Given the description of an element on the screen output the (x, y) to click on. 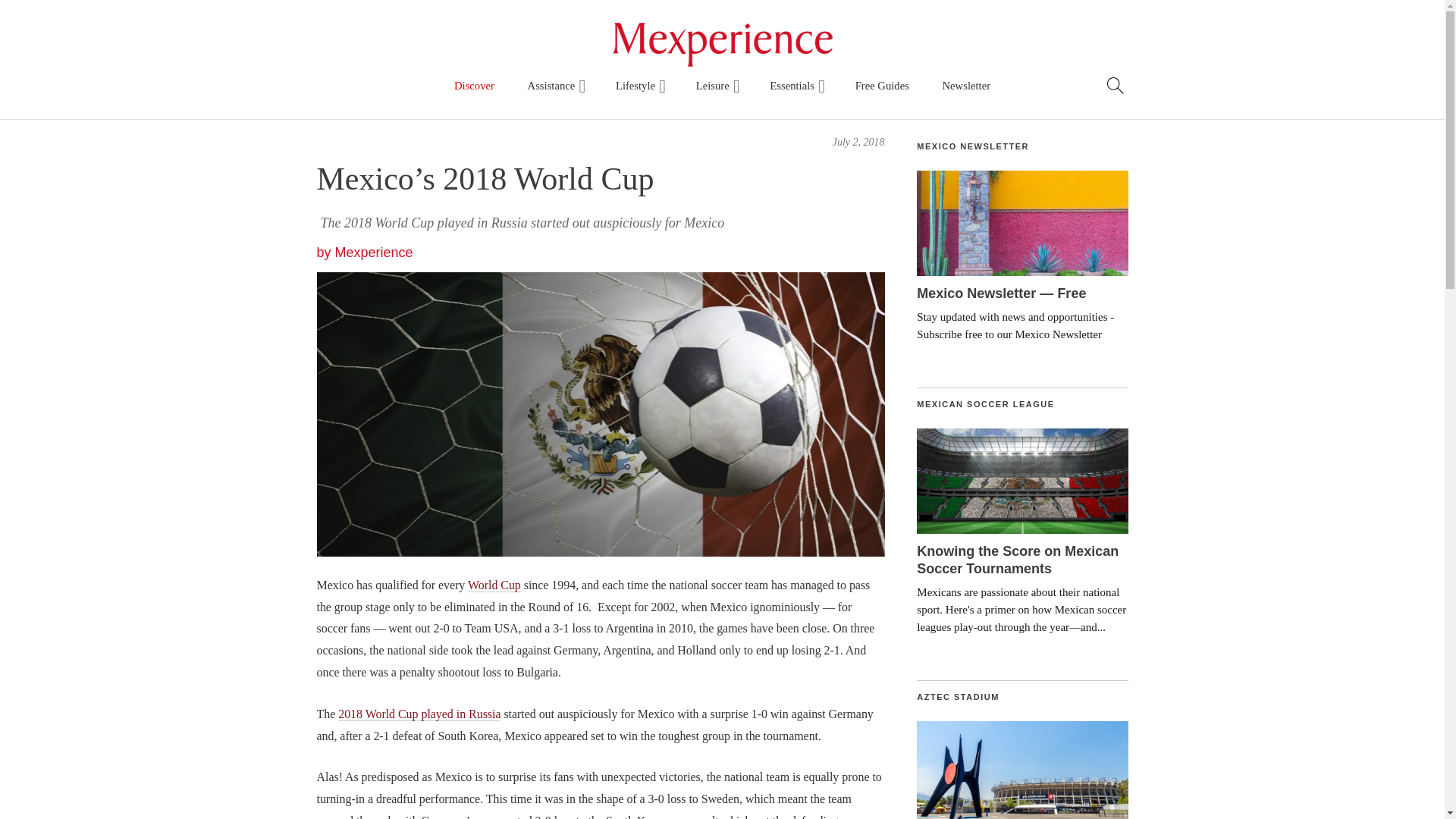
Discover (474, 85)
All posts by Mexperience (373, 252)
Assistance (555, 85)
Permalink to Knowing the Score on Mexican Soccer Tournaments (1021, 480)
